Given the description of an element on the screen output the (x, y) to click on. 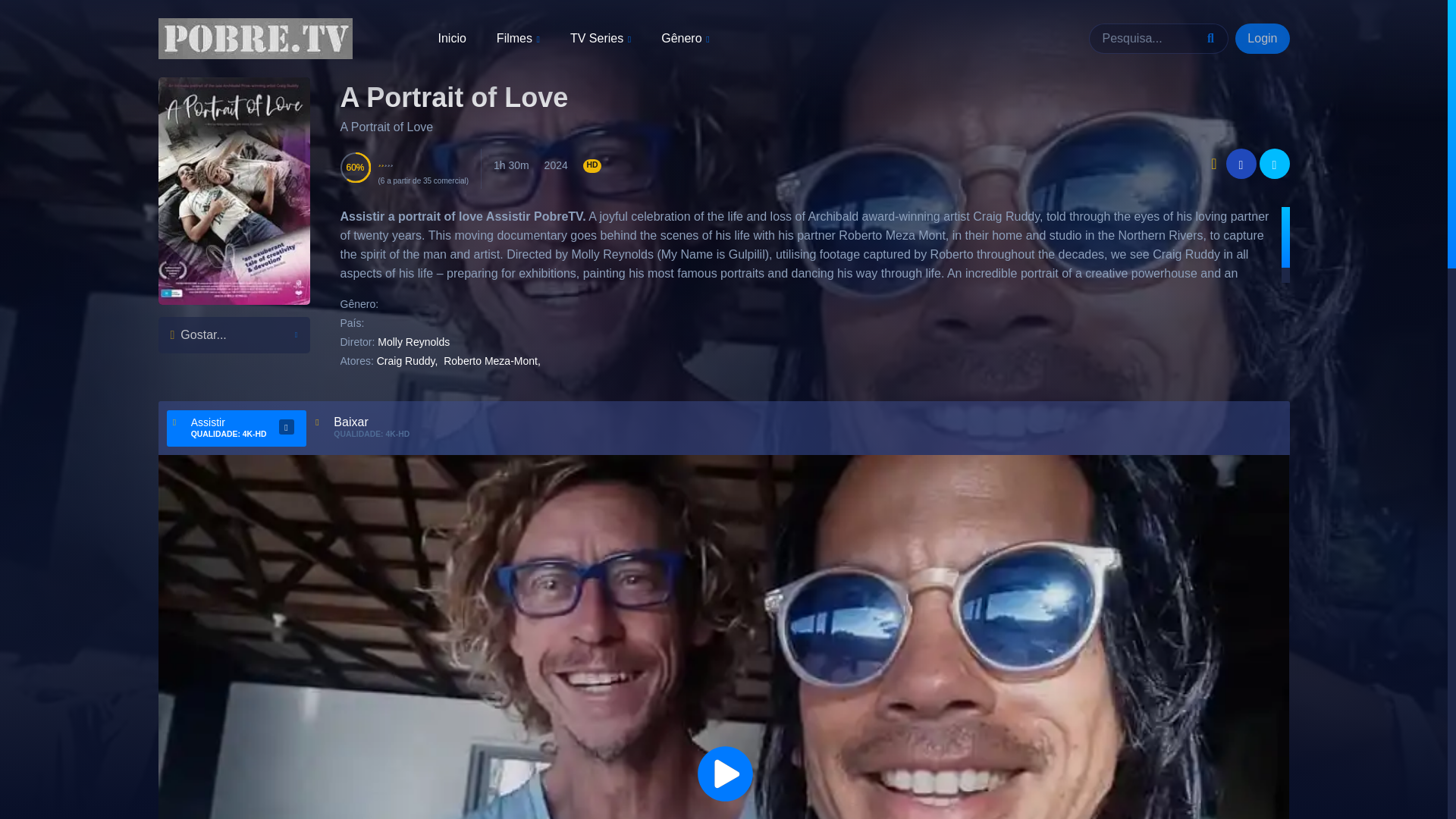
Craig Ruddy, (407, 360)
2024 (555, 164)
Inicio (451, 38)
Facebook (1240, 163)
Login (1261, 38)
TV Series (600, 38)
Filmes (518, 38)
Twitter (1273, 163)
Gostar... (232, 334)
A Portrait of Love (453, 97)
